Given the description of an element on the screen output the (x, y) to click on. 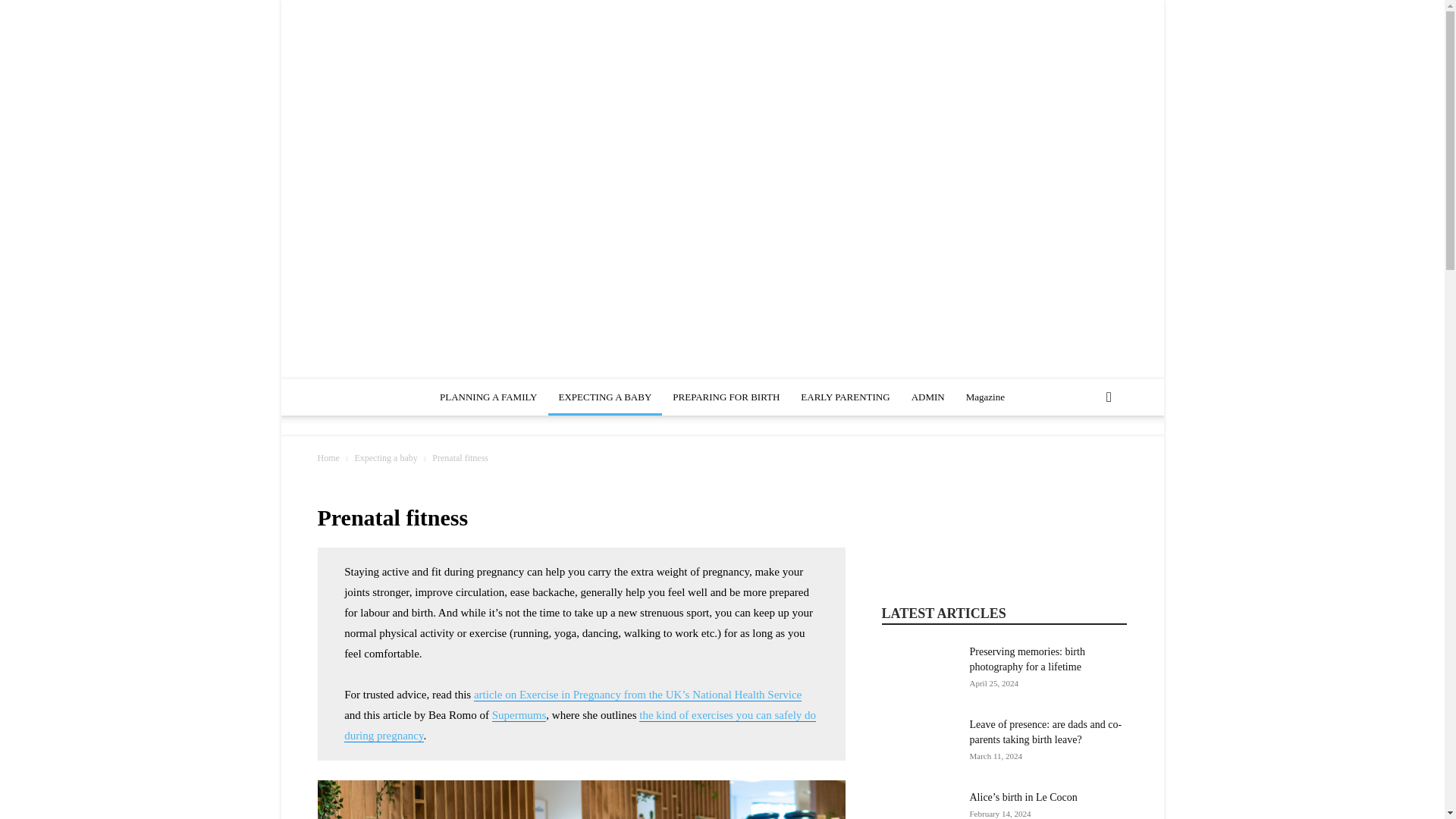
Expecting a baby (384, 457)
Preserving memories: birth photography for a lifetime (918, 670)
Preserving memories: birth photography for a lifetime (1026, 659)
